Given the description of an element on the screen output the (x, y) to click on. 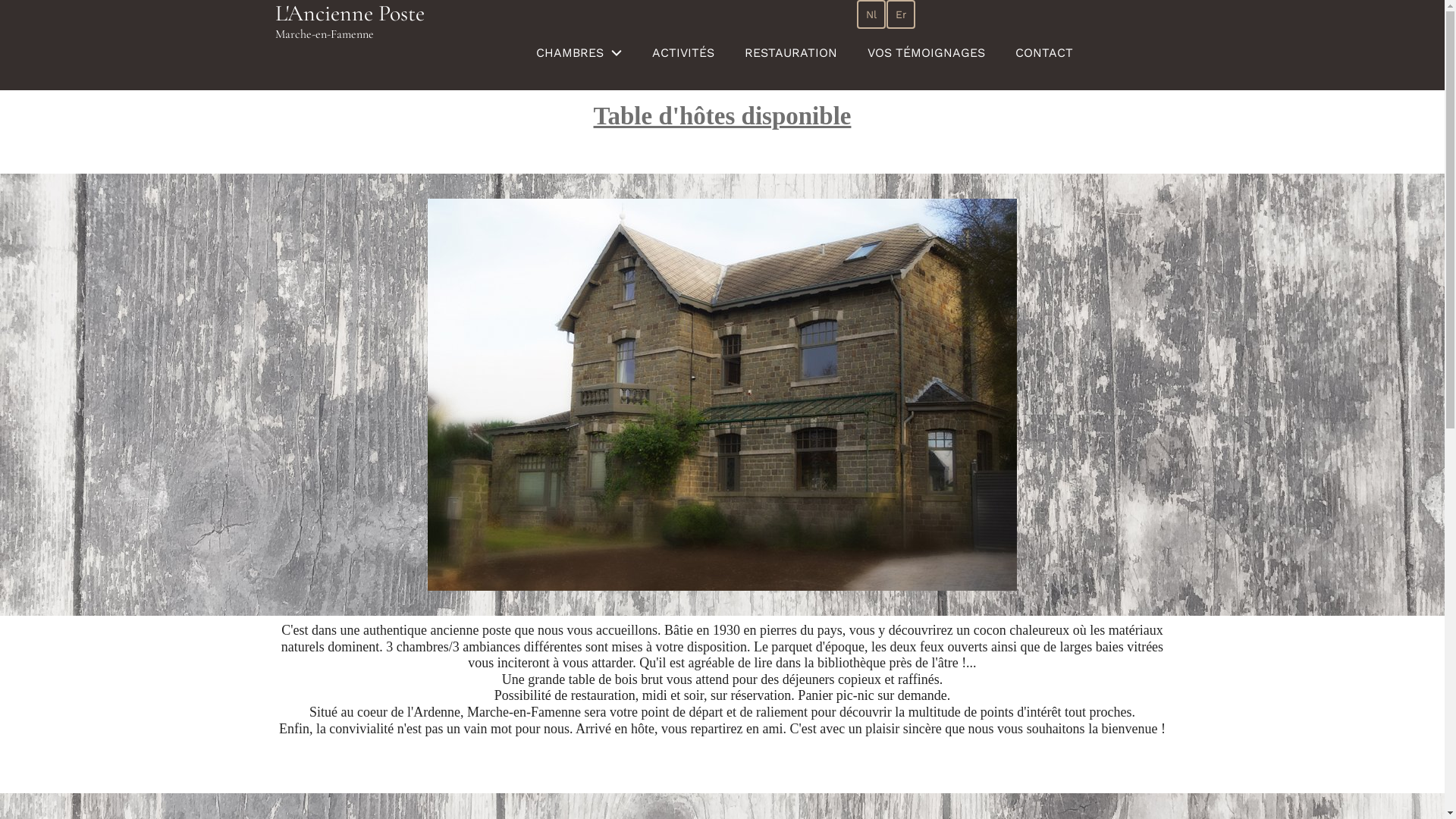
CHAMBRES Element type: text (578, 52)
Nl Element type: text (871, 14)
CONTACT Element type: text (1043, 52)
En Element type: text (900, 14)
RESTAURATION Element type: text (790, 52)
